Given the description of an element on the screen output the (x, y) to click on. 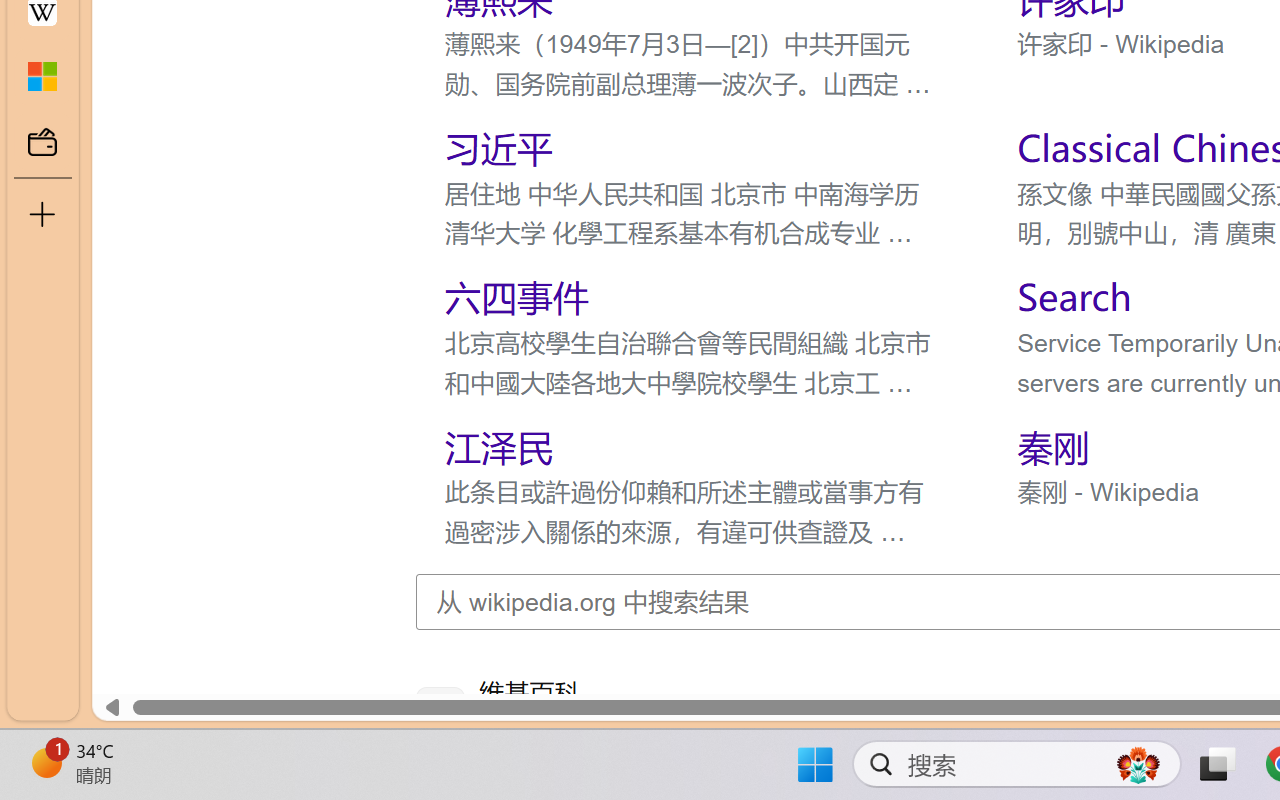
Search (1073, 296)
